Given the description of an element on the screen output the (x, y) to click on. 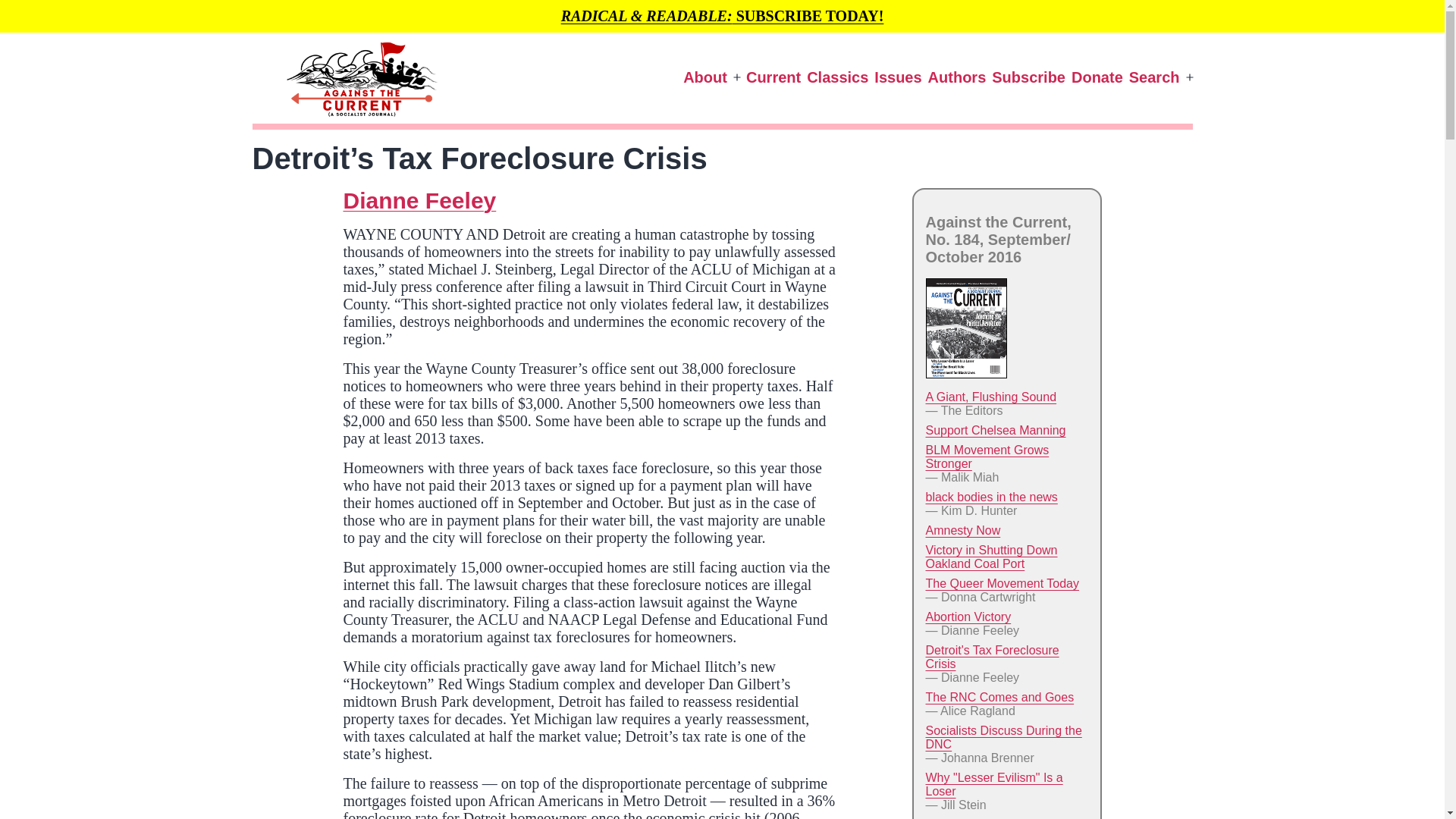
Support Chelsea Manning (994, 430)
Amnesty Now (962, 530)
Why "Lesser Evilism" Is a Loser (993, 784)
Socialists Discuss During the DNC (1002, 737)
Subscribe (1028, 78)
The RNC Comes and Goes (999, 697)
Current (772, 78)
Classics (836, 78)
Issues (897, 78)
The Queer Movement Today (1001, 583)
Detroit's Tax Foreclosure Crisis (991, 656)
BLM Movement Grows Stronger (986, 456)
Against the Current (274, 148)
About (704, 78)
black bodies in the news (990, 496)
